Given the description of an element on the screen output the (x, y) to click on. 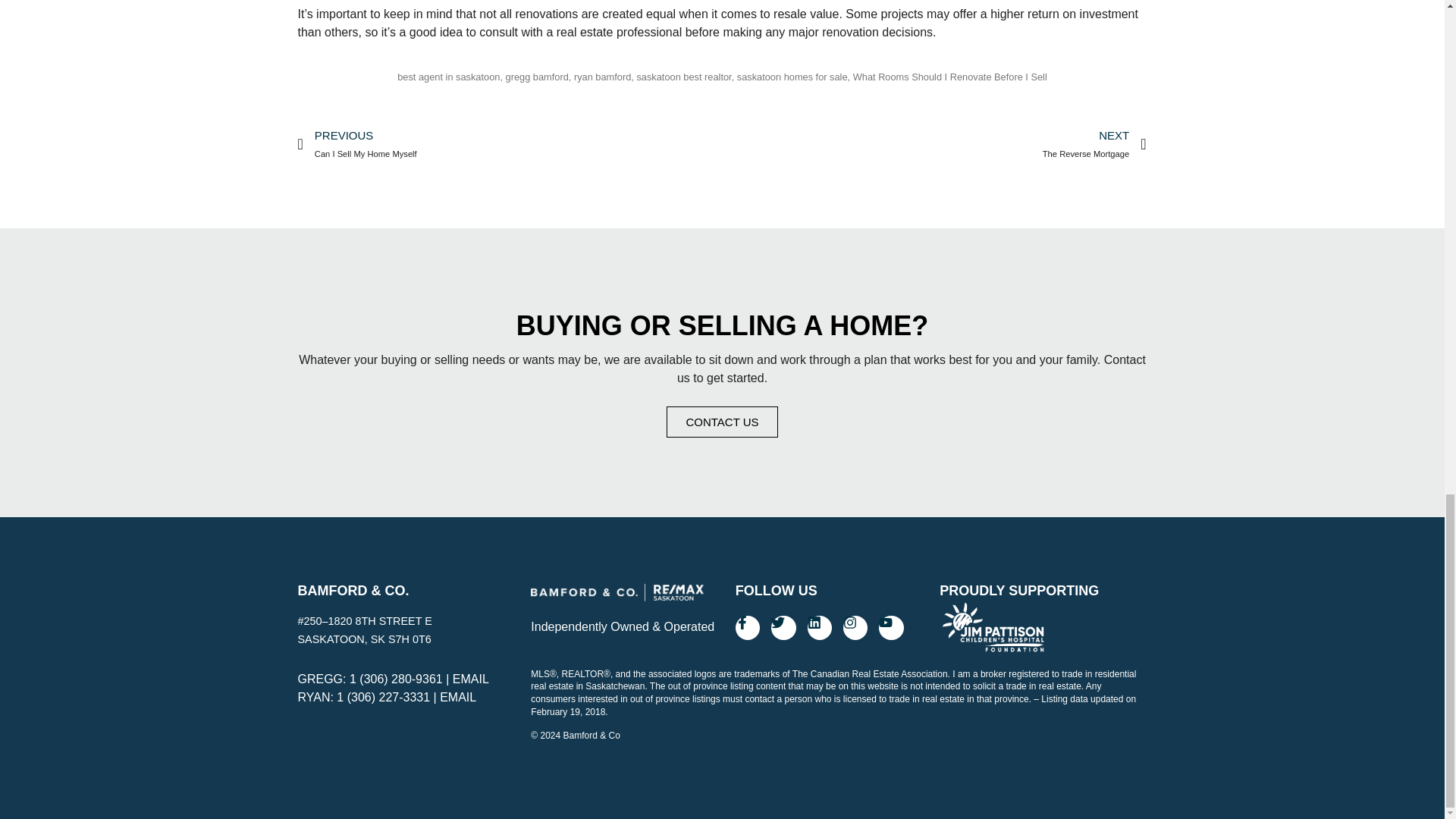
saskatoon homes for sale (791, 76)
gregg bamford (537, 76)
ryan bamford (601, 76)
What Rooms Should I Renovate Before I Sell (949, 76)
saskatoon best realtor (683, 76)
best agent in saskatoon (448, 76)
